Given the description of an element on the screen output the (x, y) to click on. 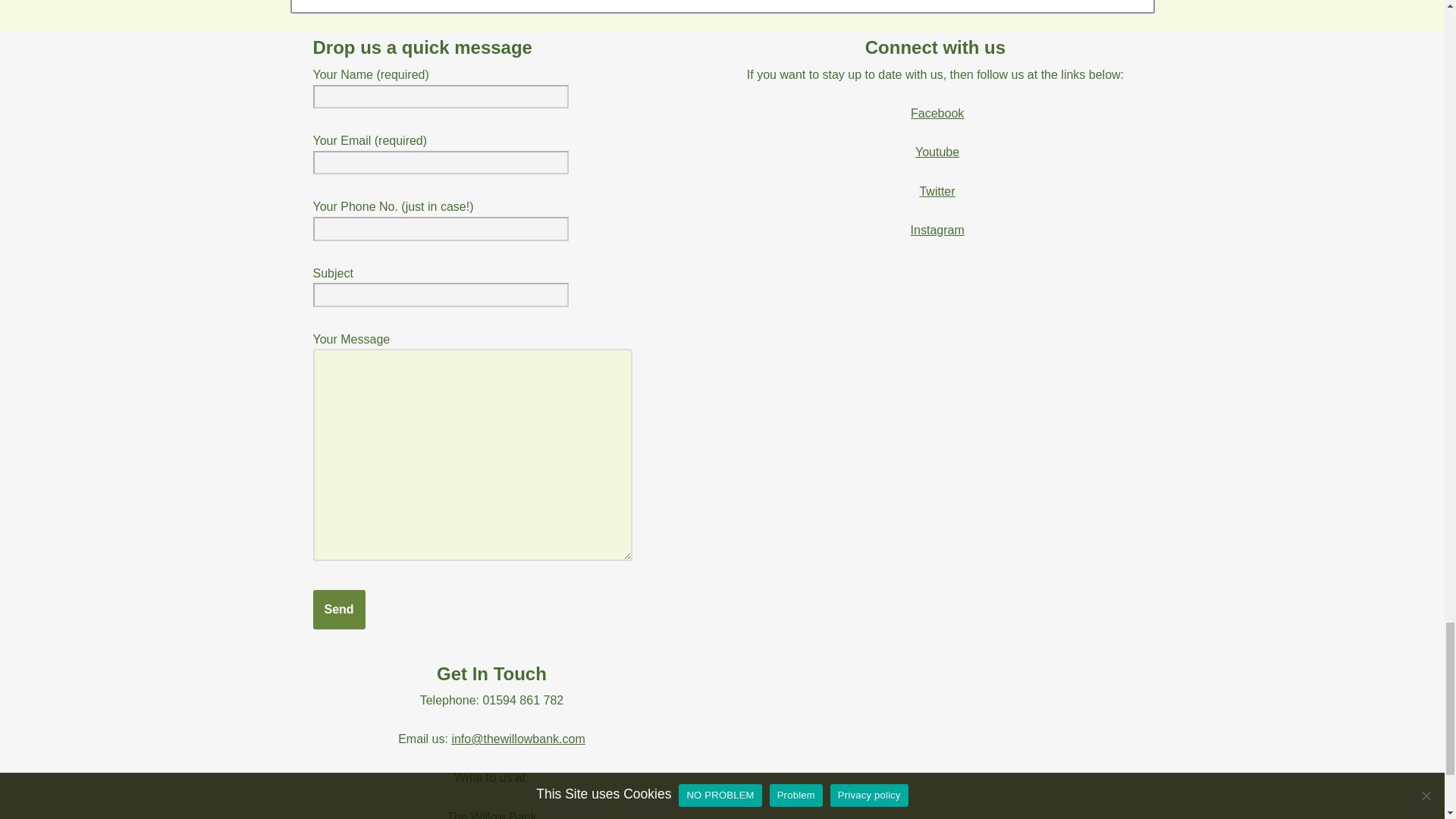
Send (339, 609)
